Given the description of an element on the screen output the (x, y) to click on. 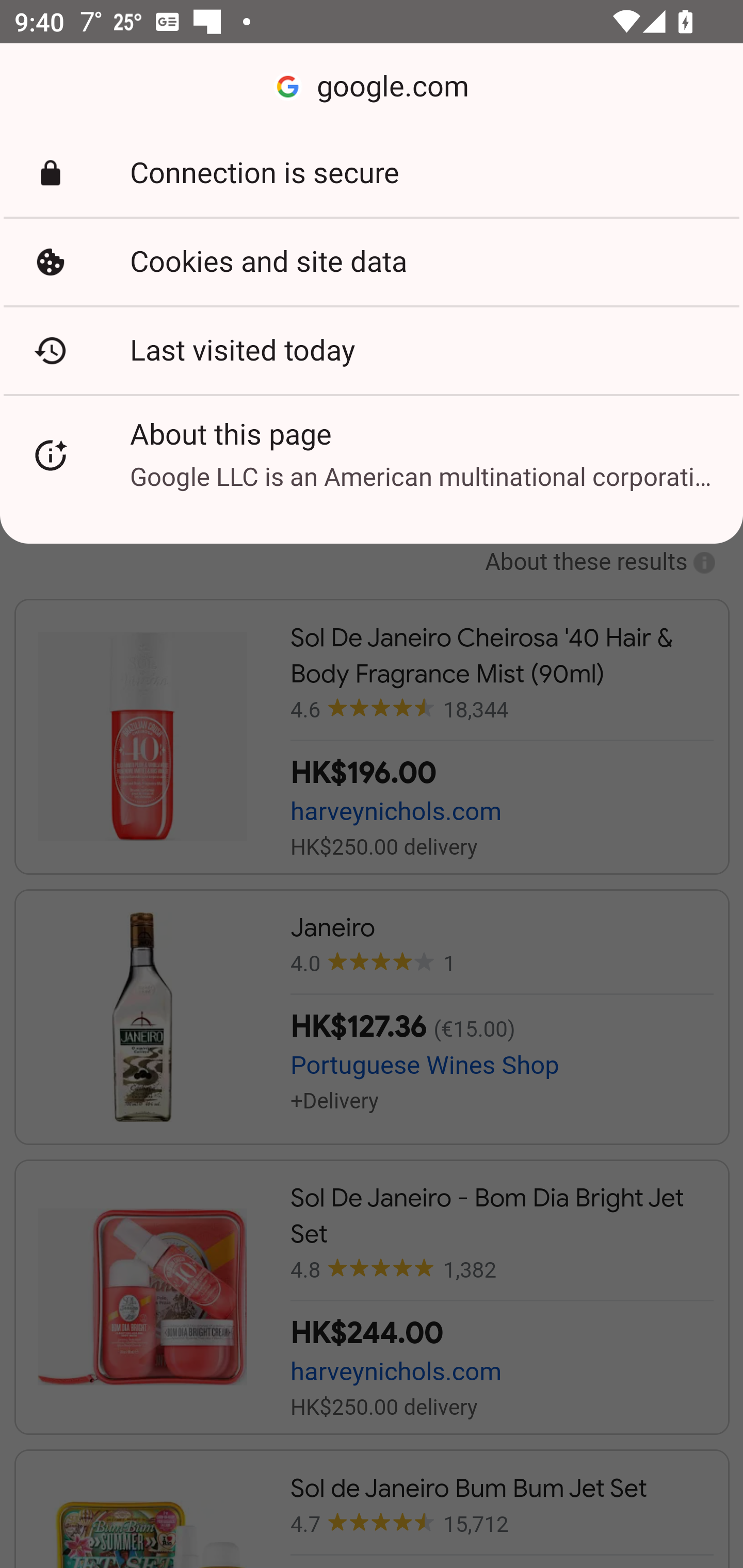
google.com (371, 86)
Connection is secure (371, 173)
Cookies and site data (371, 261)
Last visited today (371, 350)
